Given the description of an element on the screen output the (x, y) to click on. 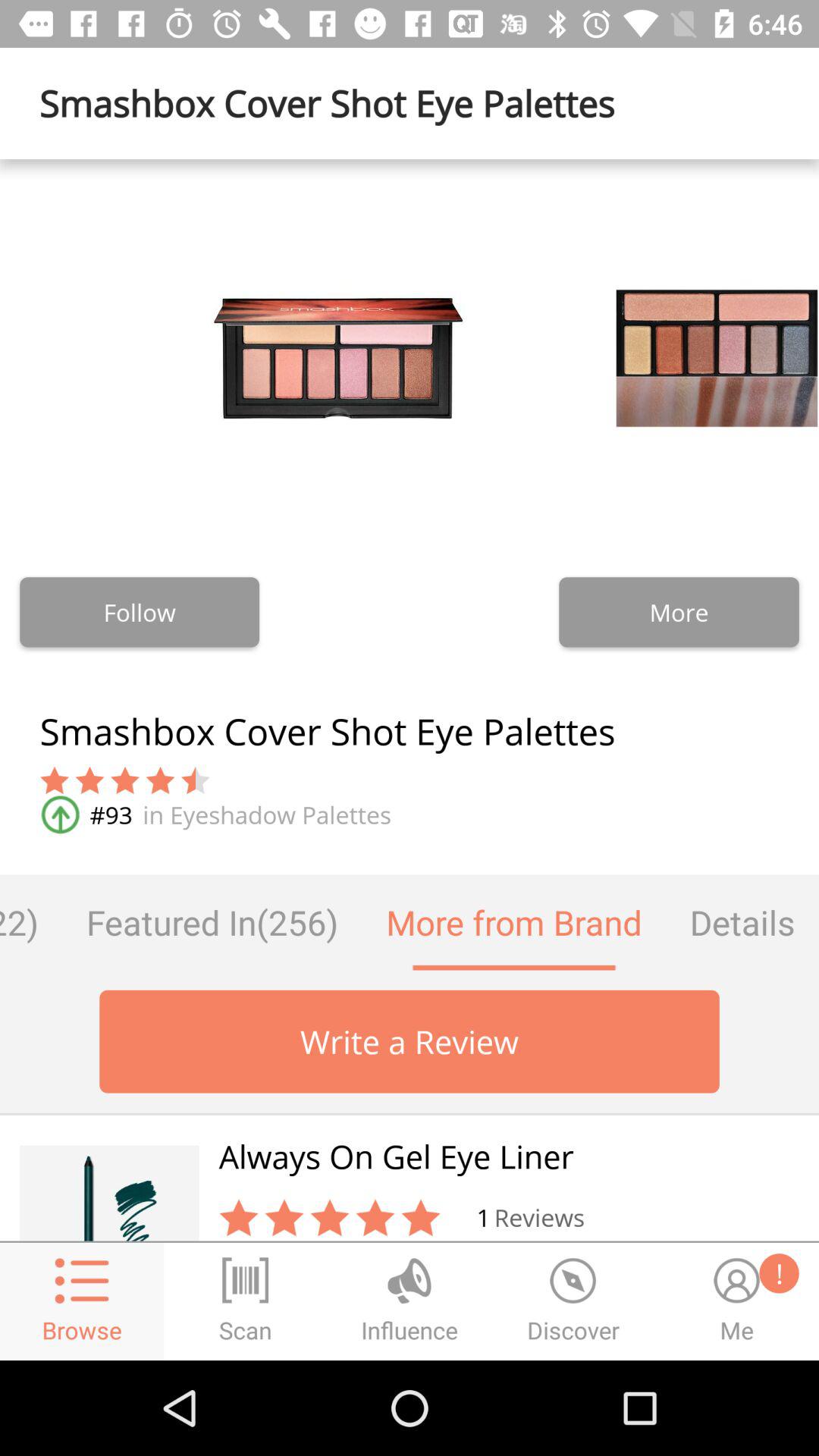
turn on the icon above the smashbox cover shot (139, 612)
